Given the description of an element on the screen output the (x, y) to click on. 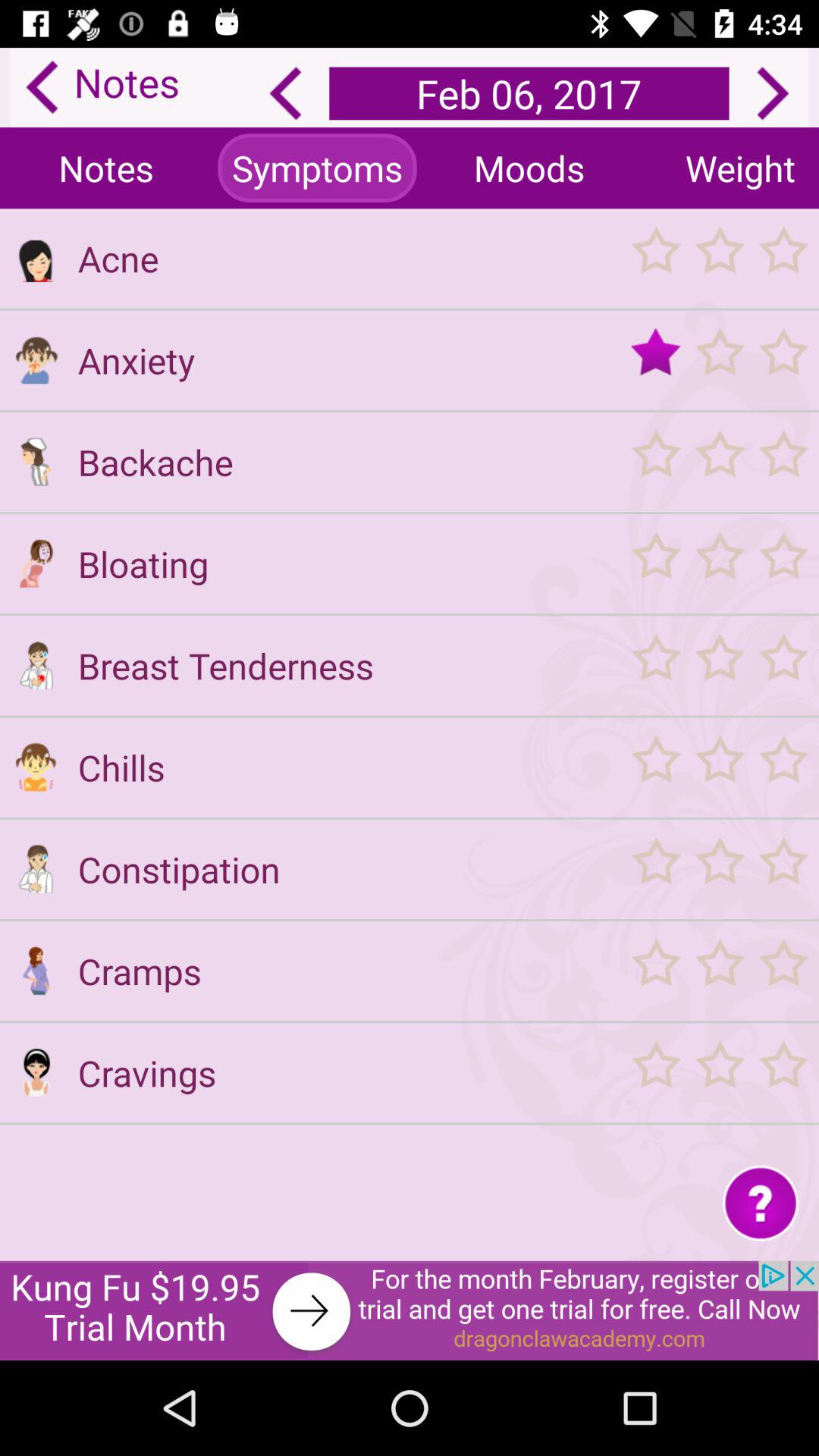
select cramp level (719, 970)
